Given the description of an element on the screen output the (x, y) to click on. 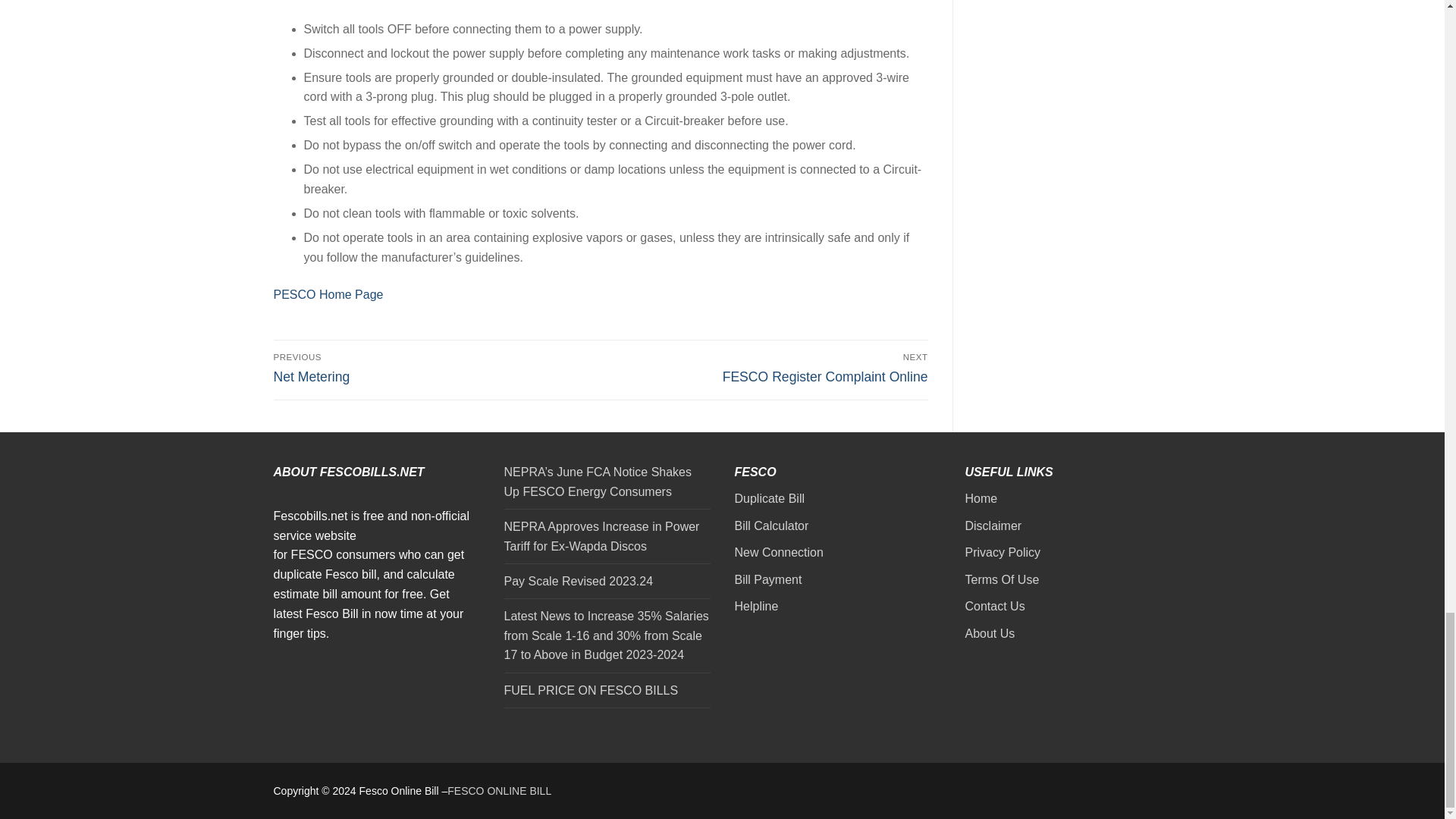
PESCO Home Page (327, 294)
FUEL PRICE ON FESCO BILLS (606, 694)
Pay Scale Revised 2023.24 (606, 584)
NEPRA Approves Increase in Power Tariff for Ex-Wapda Discos (433, 368)
